Given the description of an element on the screen output the (x, y) to click on. 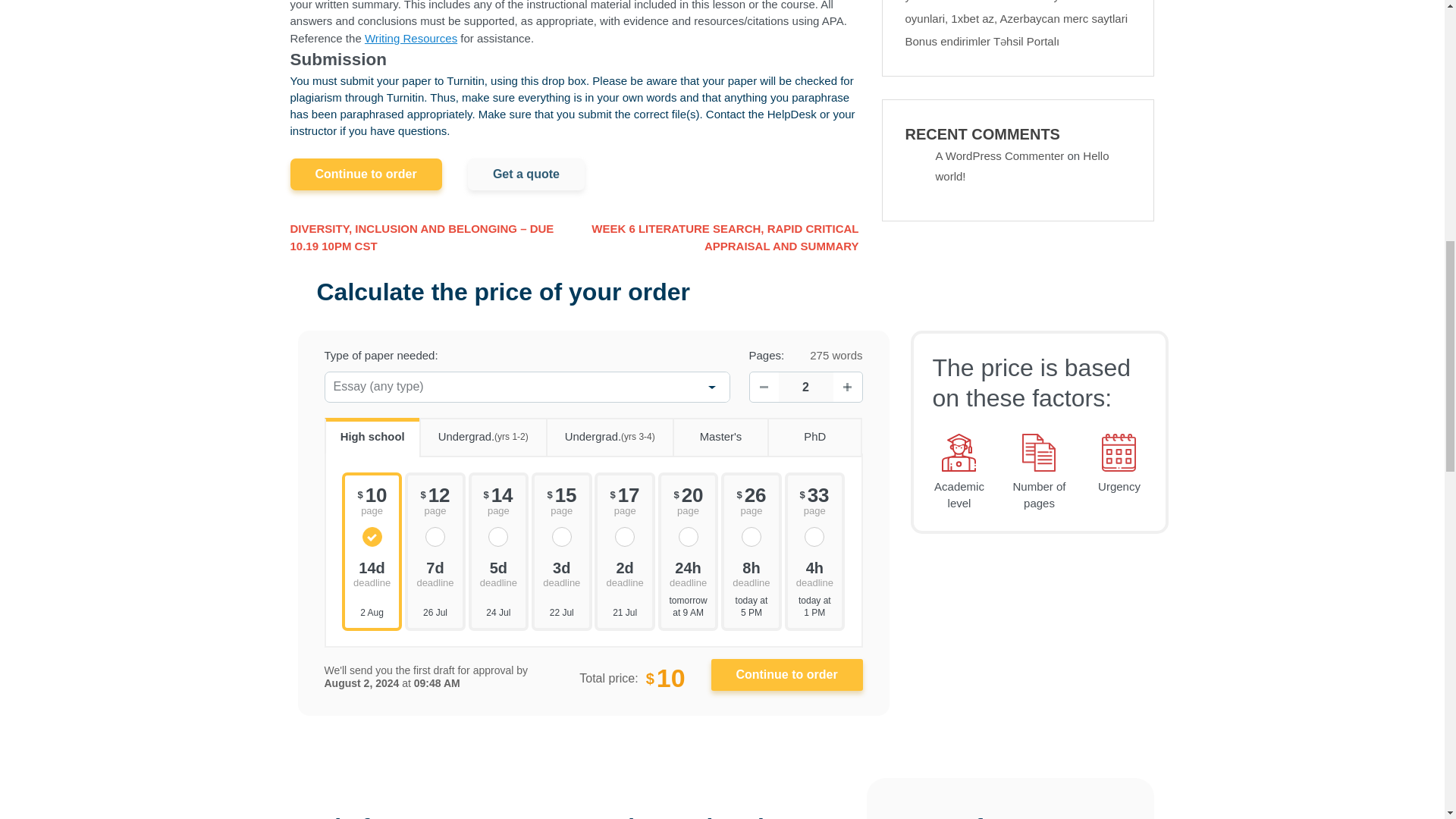
4 hours (815, 572)
Continue to order (365, 174)
Hello world! (1022, 165)
7 days (435, 572)
14 days (372, 572)
Writing Resources (411, 38)
2 (804, 387)
Continue to order (787, 675)
Continue to Order (787, 675)
Continue to order (787, 675)
Decrease (763, 387)
A WordPress Commenter (1000, 155)
Writing Resources (411, 38)
2 days (624, 572)
